Given the description of an element on the screen output the (x, y) to click on. 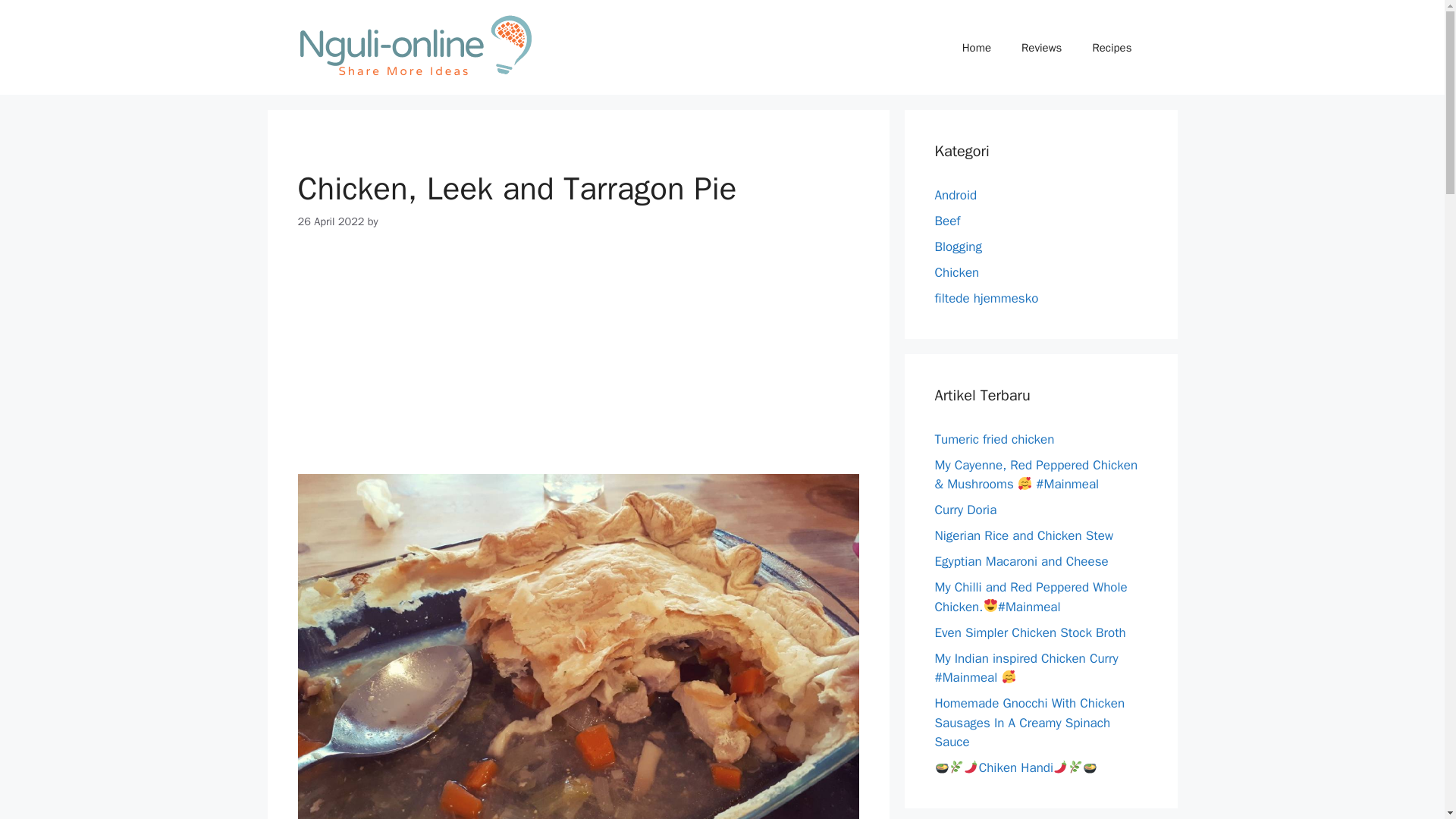
Nigerian Rice and Chicken Stew (1023, 535)
filtede hjemmesko (986, 298)
Home (976, 46)
Recipes (1112, 46)
Reviews (1041, 46)
Tumeric fried chicken (994, 438)
Even Simpler Chicken Stock Broth (1029, 632)
Curry Doria (964, 509)
Beef (946, 220)
